Given the description of an element on the screen output the (x, y) to click on. 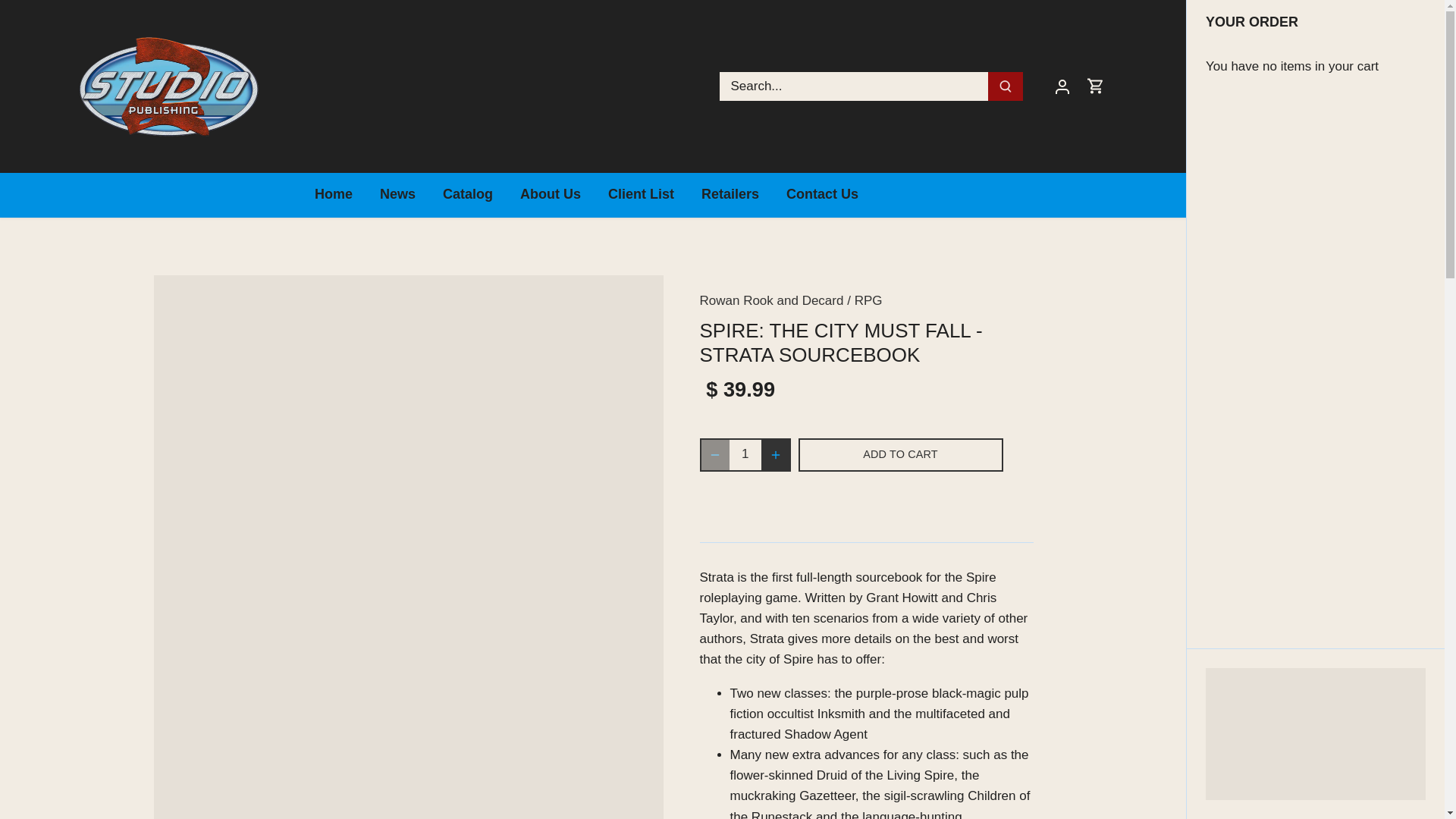
Home (340, 194)
Contact Us (822, 194)
News (397, 194)
ADD TO CART (900, 454)
Rowan Rook and Decard (770, 300)
1 (745, 454)
Client List (640, 194)
Catalog (467, 194)
About Us (550, 194)
Retailers (730, 194)
Go to cart (1095, 86)
RPG (868, 300)
